Given the description of an element on the screen output the (x, y) to click on. 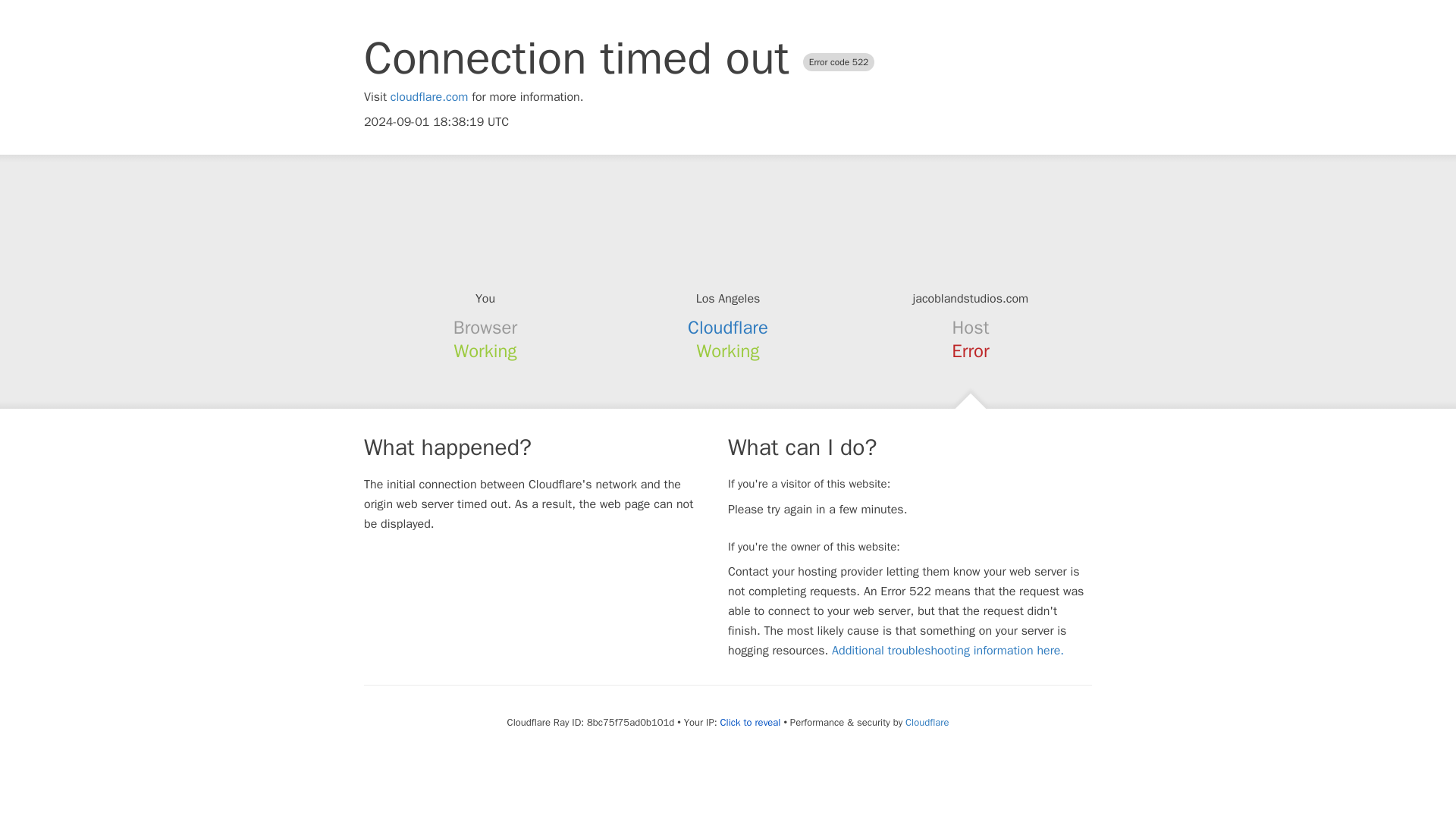
Cloudflare (927, 721)
cloudflare.com (429, 96)
Cloudflare (727, 327)
Click to reveal (750, 722)
Additional troubleshooting information here. (947, 650)
